Given the description of an element on the screen output the (x, y) to click on. 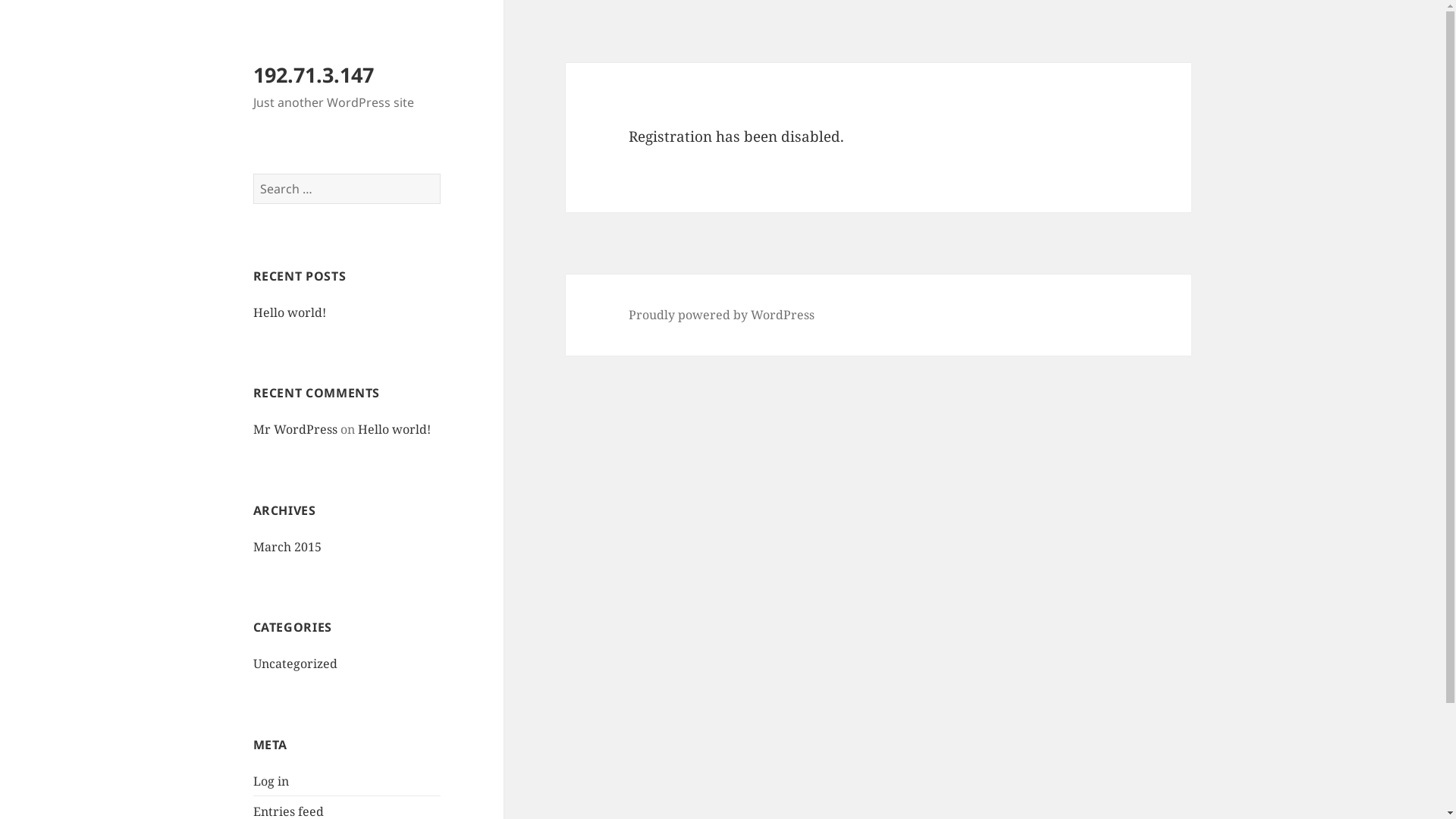
March 2015 Element type: text (287, 546)
Log in Element type: text (270, 780)
Uncategorized Element type: text (295, 663)
Proudly powered by WordPress Element type: text (721, 314)
Search Element type: text (439, 172)
Hello world! Element type: text (393, 428)
192.71.3.147 Element type: text (313, 74)
Mr WordPress Element type: text (295, 428)
Hello world! Element type: text (289, 312)
